Given the description of an element on the screen output the (x, y) to click on. 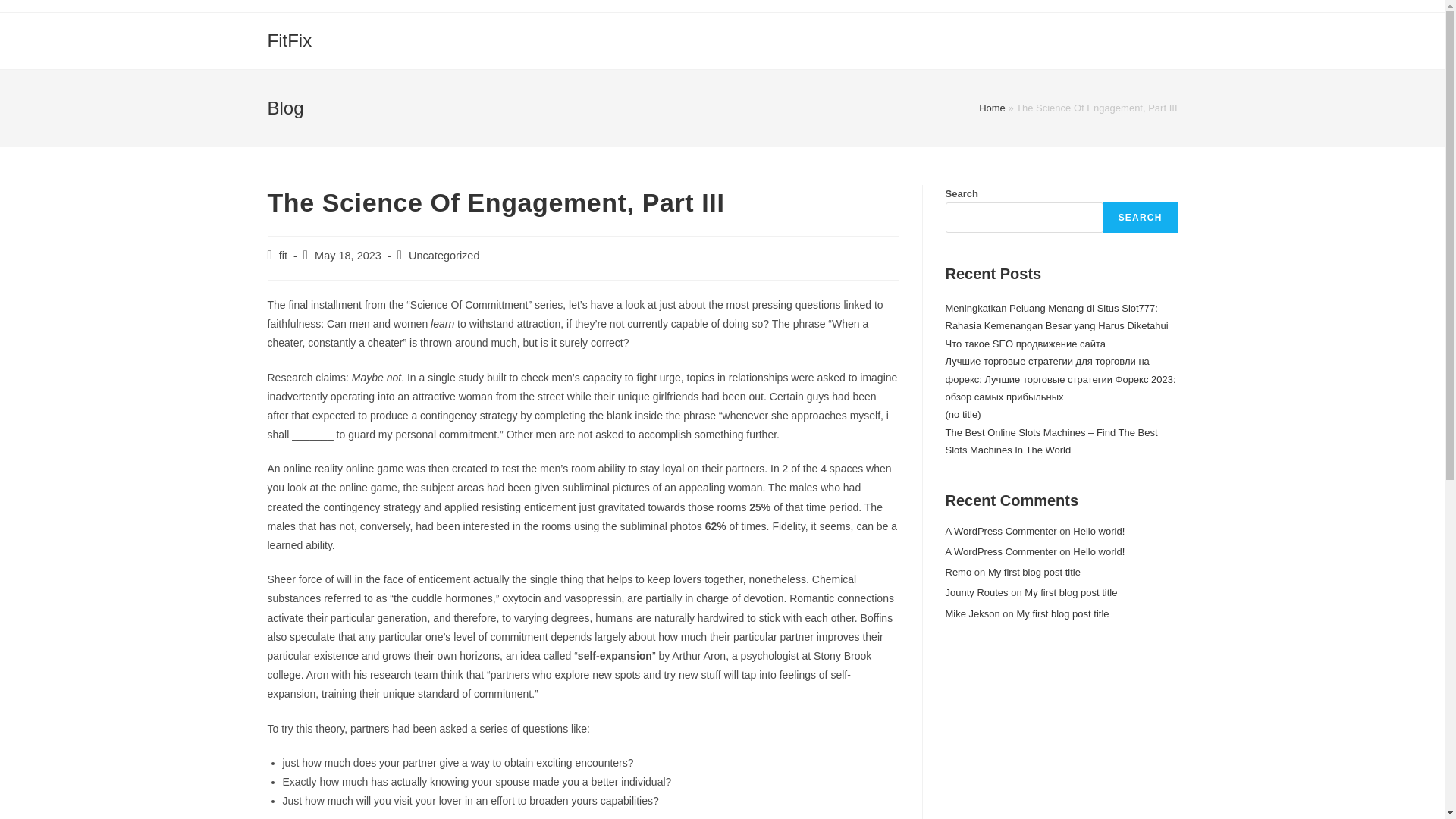
A WordPress Commenter (1000, 551)
My first blog post title (1062, 613)
Mike Jekson (971, 613)
SEARCH (1140, 217)
A WordPress Commenter (1000, 530)
Uncategorized (444, 255)
Hello world! (1098, 530)
Remo (957, 572)
My first blog post title (1034, 572)
FitFix (288, 40)
My first blog post title (1070, 592)
Jounty Routes (975, 592)
Hello world! (1098, 551)
Home (992, 107)
